Given the description of an element on the screen output the (x, y) to click on. 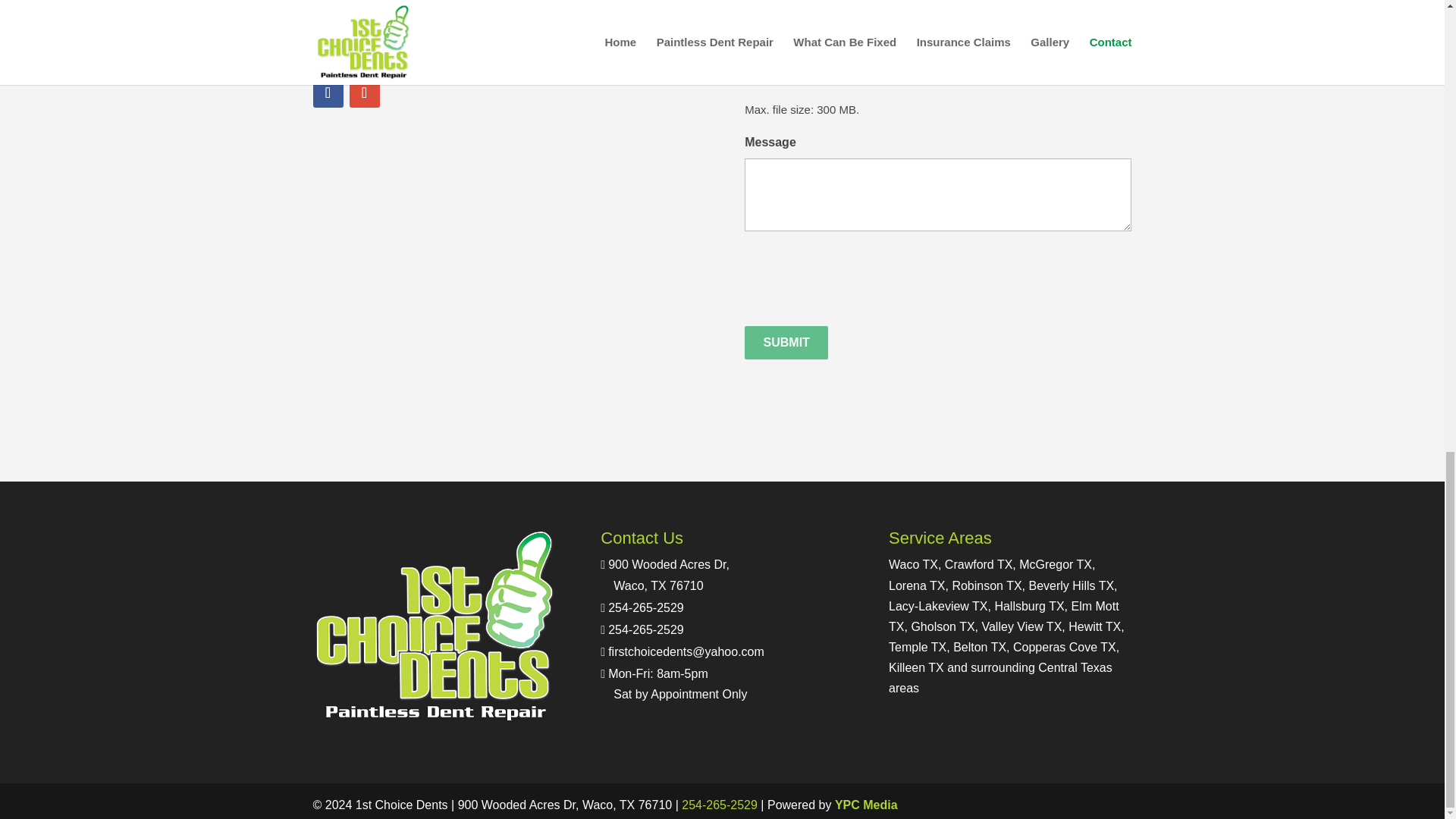
Follow on Facebook (664, 574)
254-265-2529 (327, 91)
254-265-2529 (646, 607)
YPC Media (719, 804)
Submit (866, 804)
Follow on google-plus (786, 342)
Submit (363, 91)
reCAPTCHA (786, 342)
254-265-2529 (859, 279)
